Given the description of an element on the screen output the (x, y) to click on. 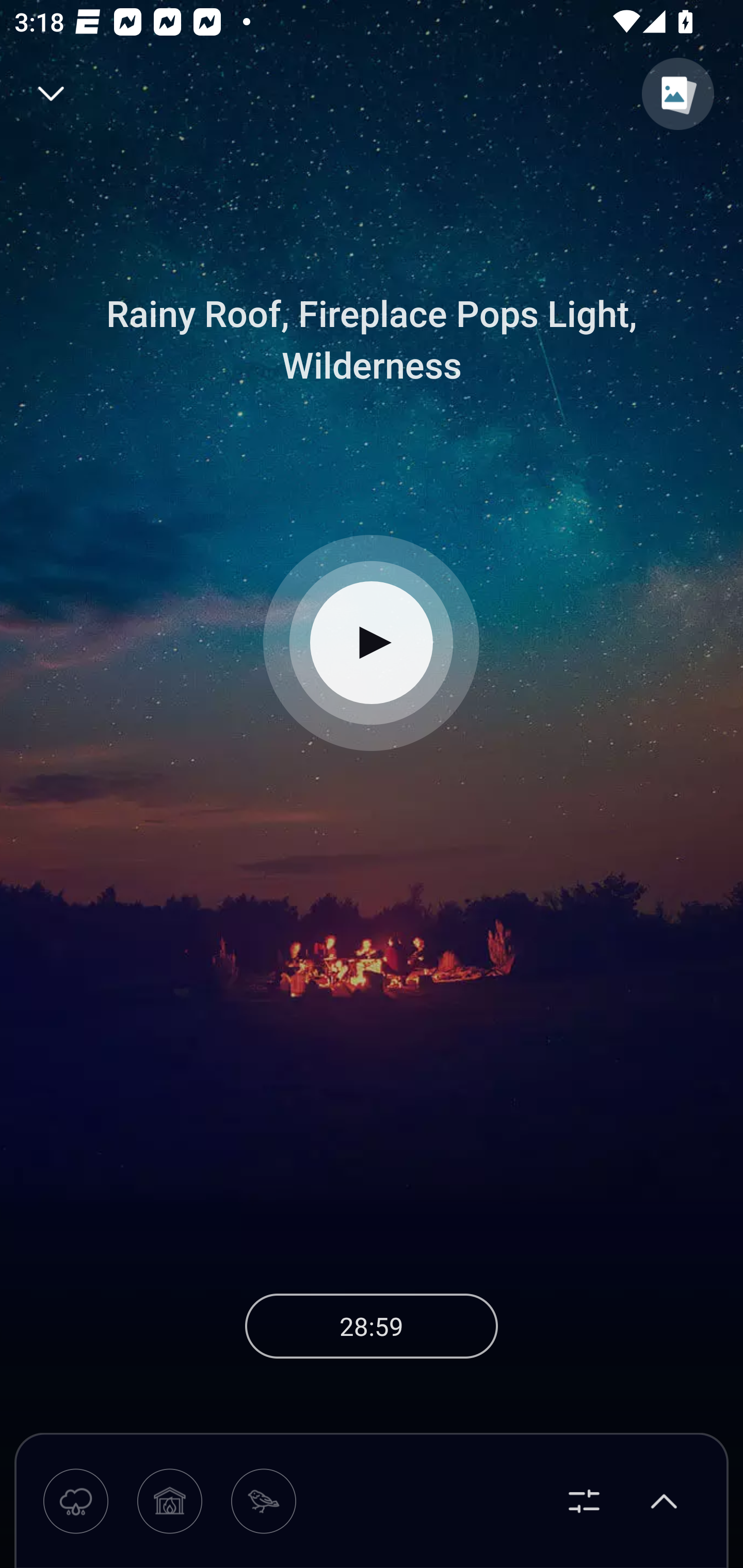
28:59 (371, 1325)
